Given the description of an element on the screen output the (x, y) to click on. 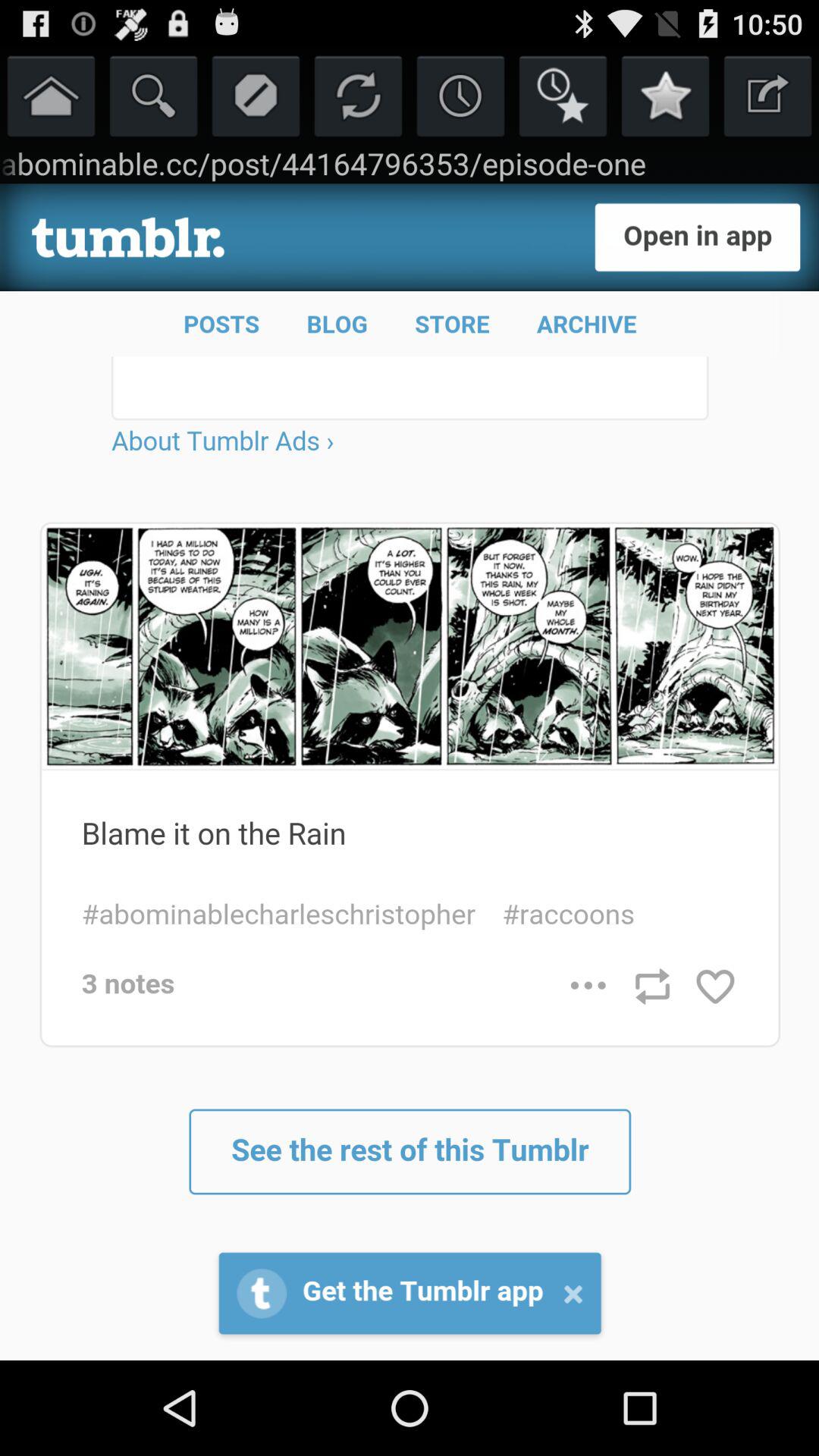
favorites (665, 95)
